Given the description of an element on the screen output the (x, y) to click on. 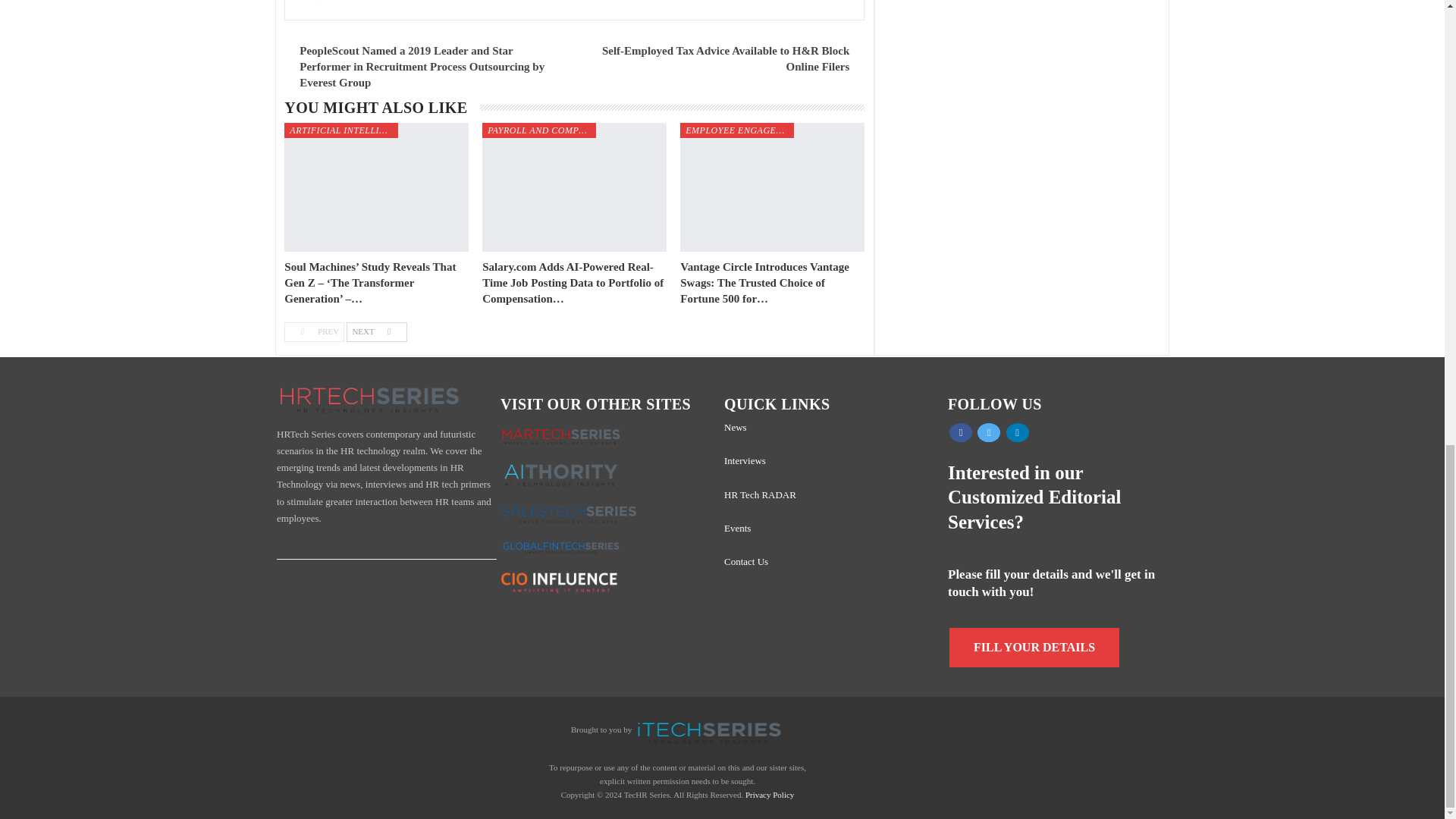
Previous (313, 332)
Next (376, 332)
